Given the description of an element on the screen output the (x, y) to click on. 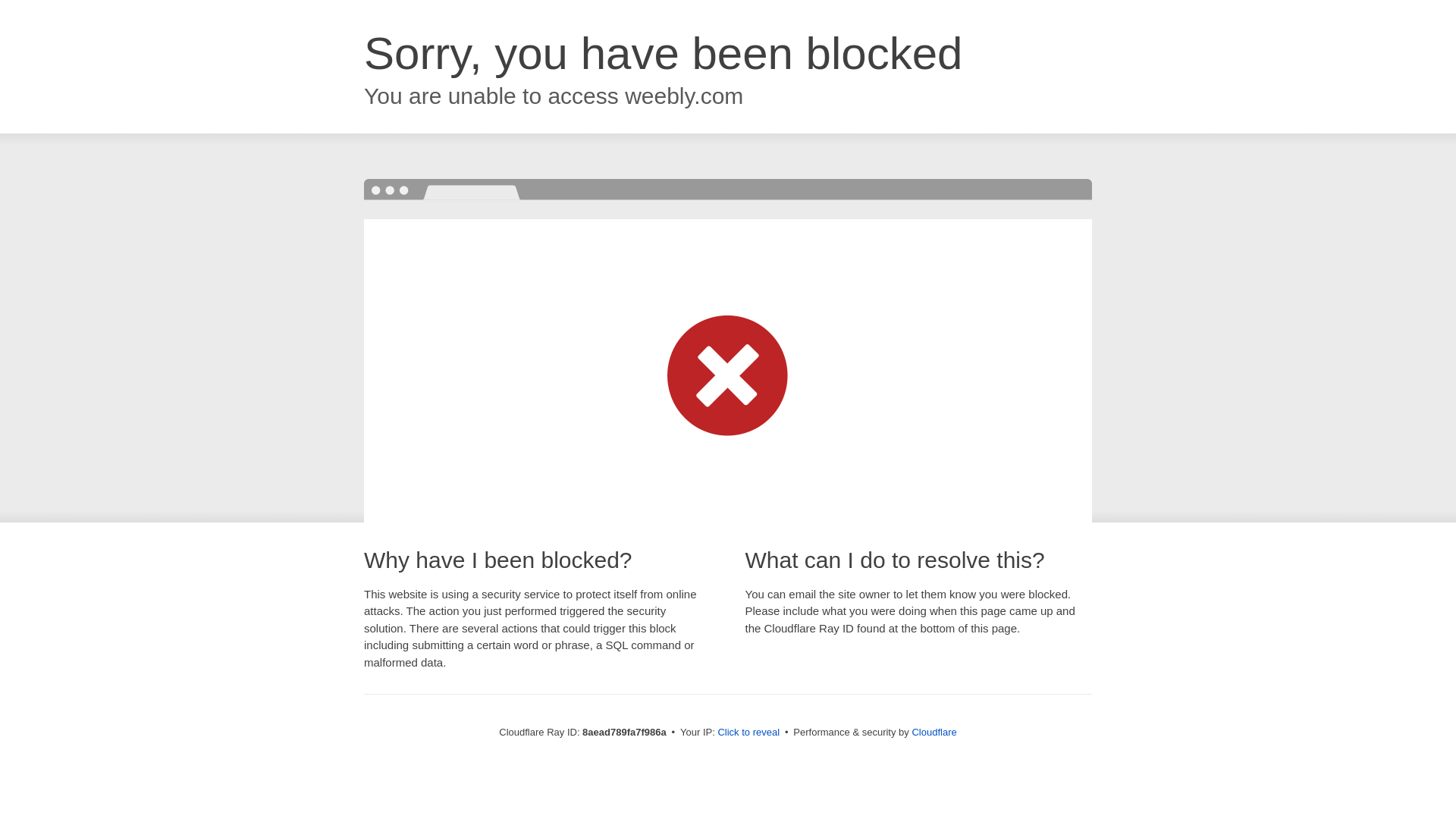
Cloudflare (933, 731)
Click to reveal (747, 732)
